Given the description of an element on the screen output the (x, y) to click on. 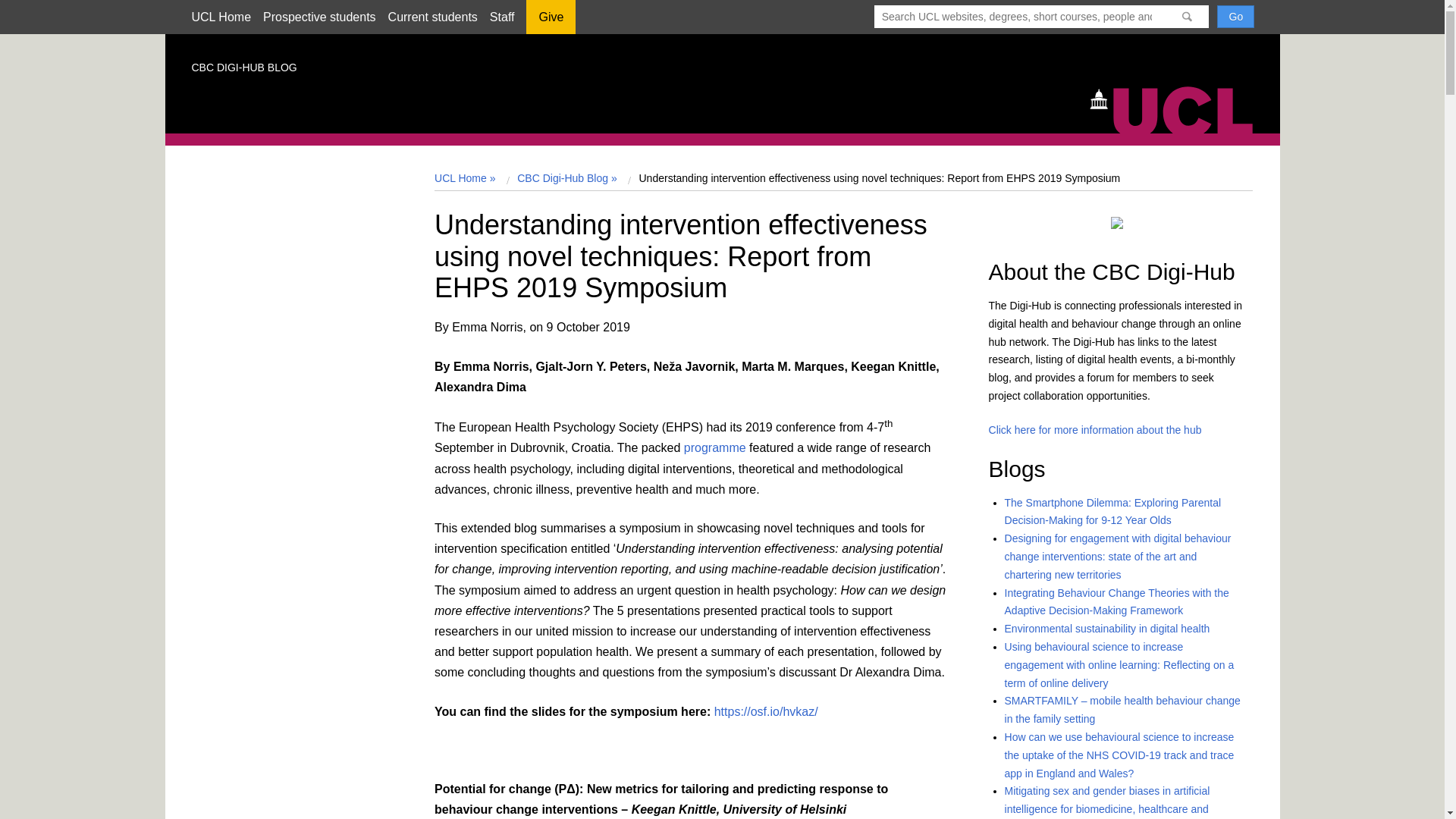
UCL Home (220, 16)
Current students (432, 16)
Prospective students (319, 16)
Give (550, 22)
Go (1235, 15)
Staff (502, 16)
Go (1235, 15)
Home (1178, 108)
Go (1235, 15)
programme (712, 447)
